Given the description of an element on the screen output the (x, y) to click on. 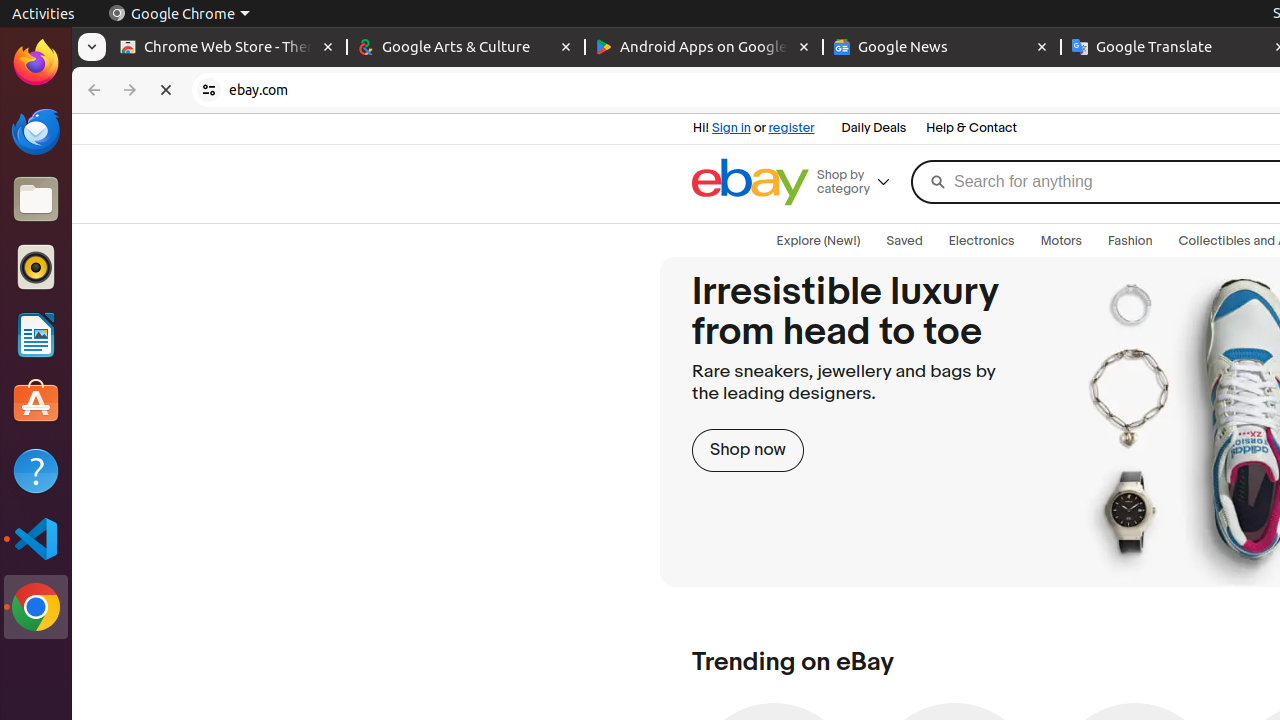
Daily Deals Element type: link (874, 129)
Shop by category Element type: push-button (861, 182)
Files Element type: push-button (36, 199)
eBay Home Element type: link (750, 182)
Firefox Web Browser Element type: push-button (36, 63)
